Given the description of an element on the screen output the (x, y) to click on. 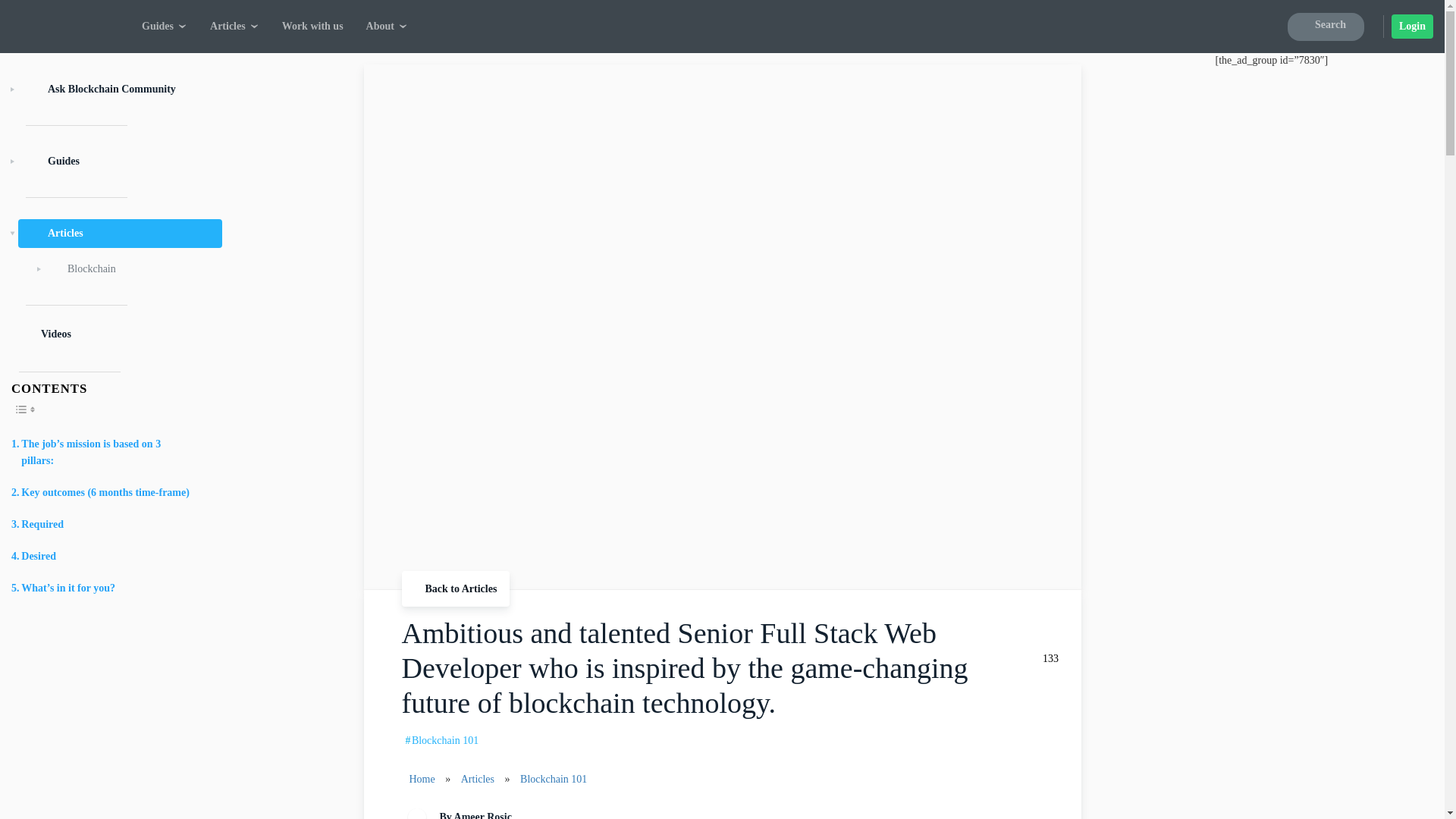
Desired (33, 556)
Go back to articles (456, 588)
Required (37, 524)
